Given the description of an element on the screen output the (x, y) to click on. 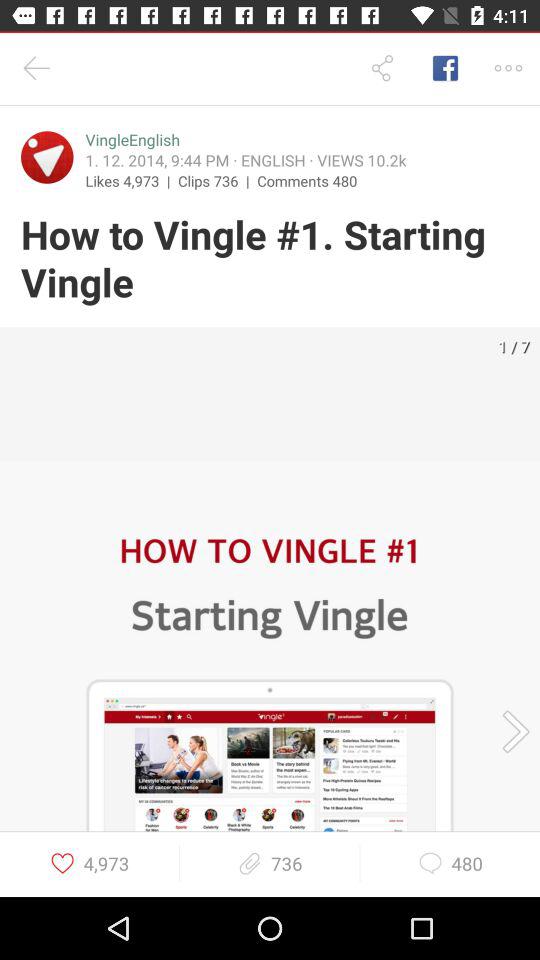
click the icon below 1 12 2014 (307, 180)
